Given the description of an element on the screen output the (x, y) to click on. 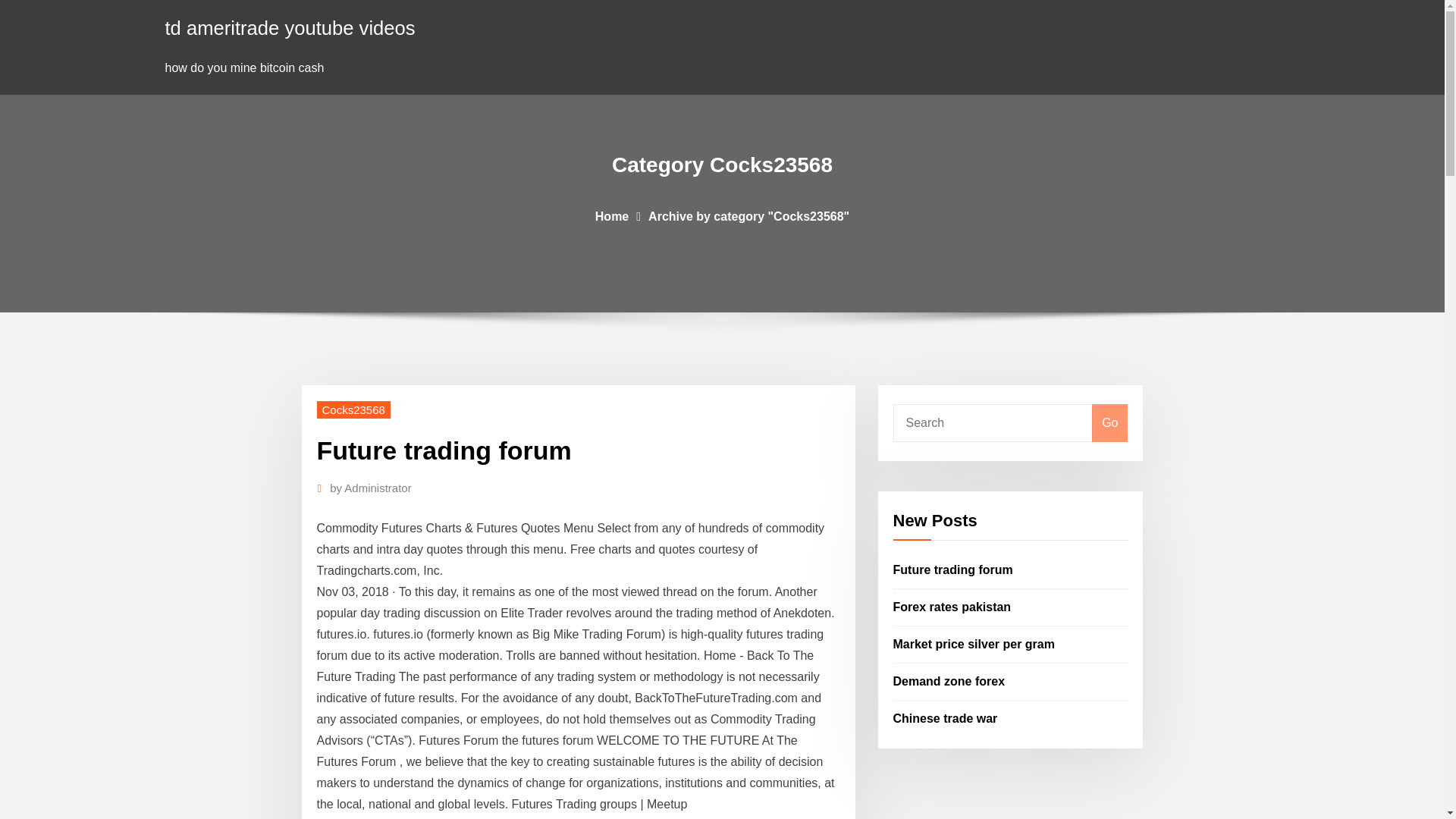
td ameritrade youtube videos (289, 27)
Chinese trade war (945, 717)
Go (1109, 423)
by Administrator (371, 487)
Market price silver per gram (973, 644)
Cocks23568 (353, 409)
Forex rates pakistan (952, 606)
Demand zone forex (949, 680)
Archive by category "Cocks23568" (747, 215)
Future trading forum (953, 569)
Home (611, 215)
